Given the description of an element on the screen output the (x, y) to click on. 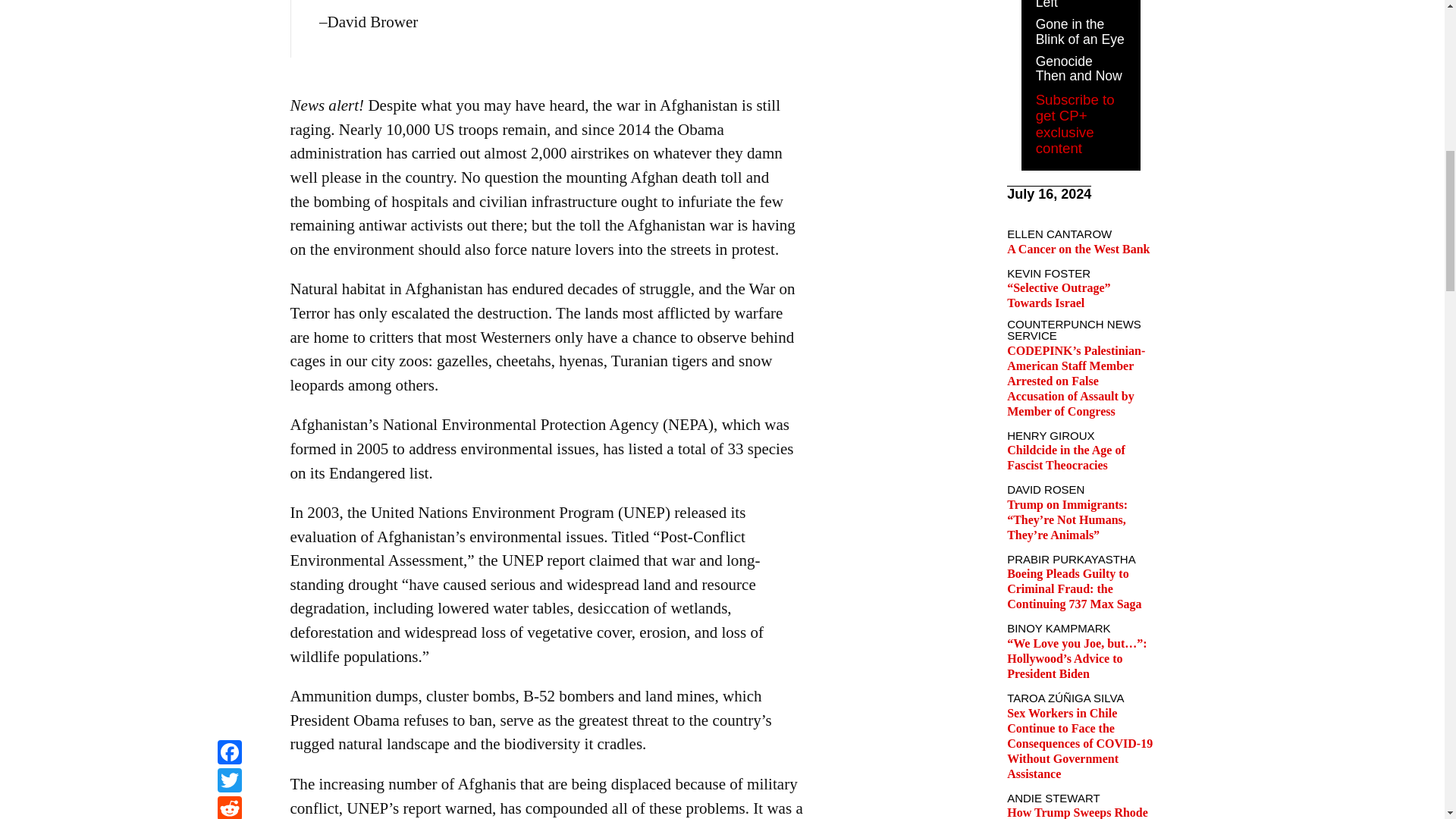
Genocide Then and Now (1078, 69)
The Molting of the Dirtbag Left (1077, 4)
Email (229, 18)
Email (229, 18)
Reddit (229, 2)
Gone in the Blink of an Eye (1079, 31)
Reddit (229, 2)
